Given the description of an element on the screen output the (x, y) to click on. 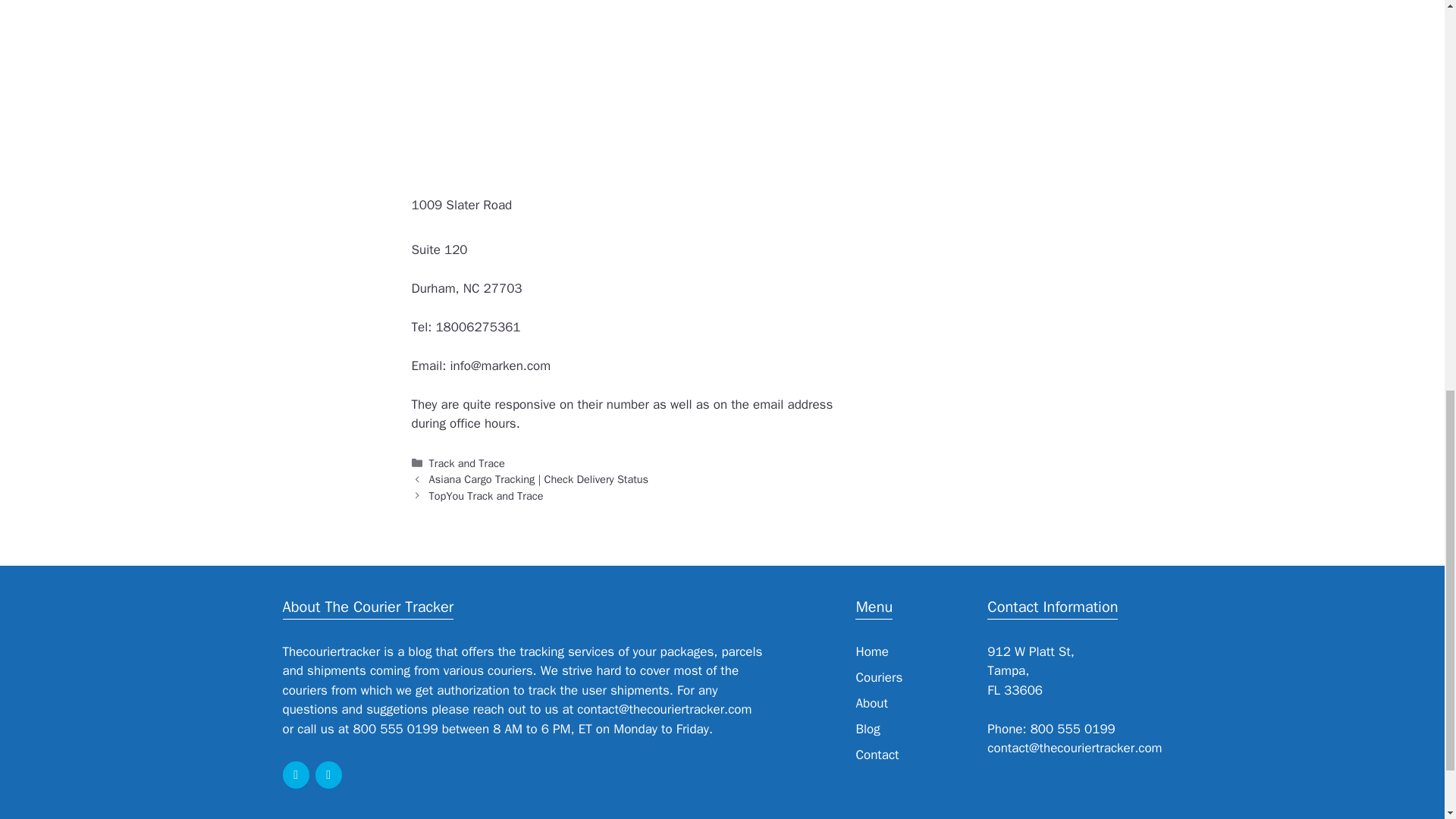
Contact (877, 754)
Blog (867, 729)
Twitter (328, 774)
Couriers (879, 677)
Track and Trace (467, 463)
Home (872, 651)
About (871, 703)
TopYou Track and Trace (486, 495)
Scroll back to top (1406, 720)
Facebook (295, 774)
